Given the description of an element on the screen output the (x, y) to click on. 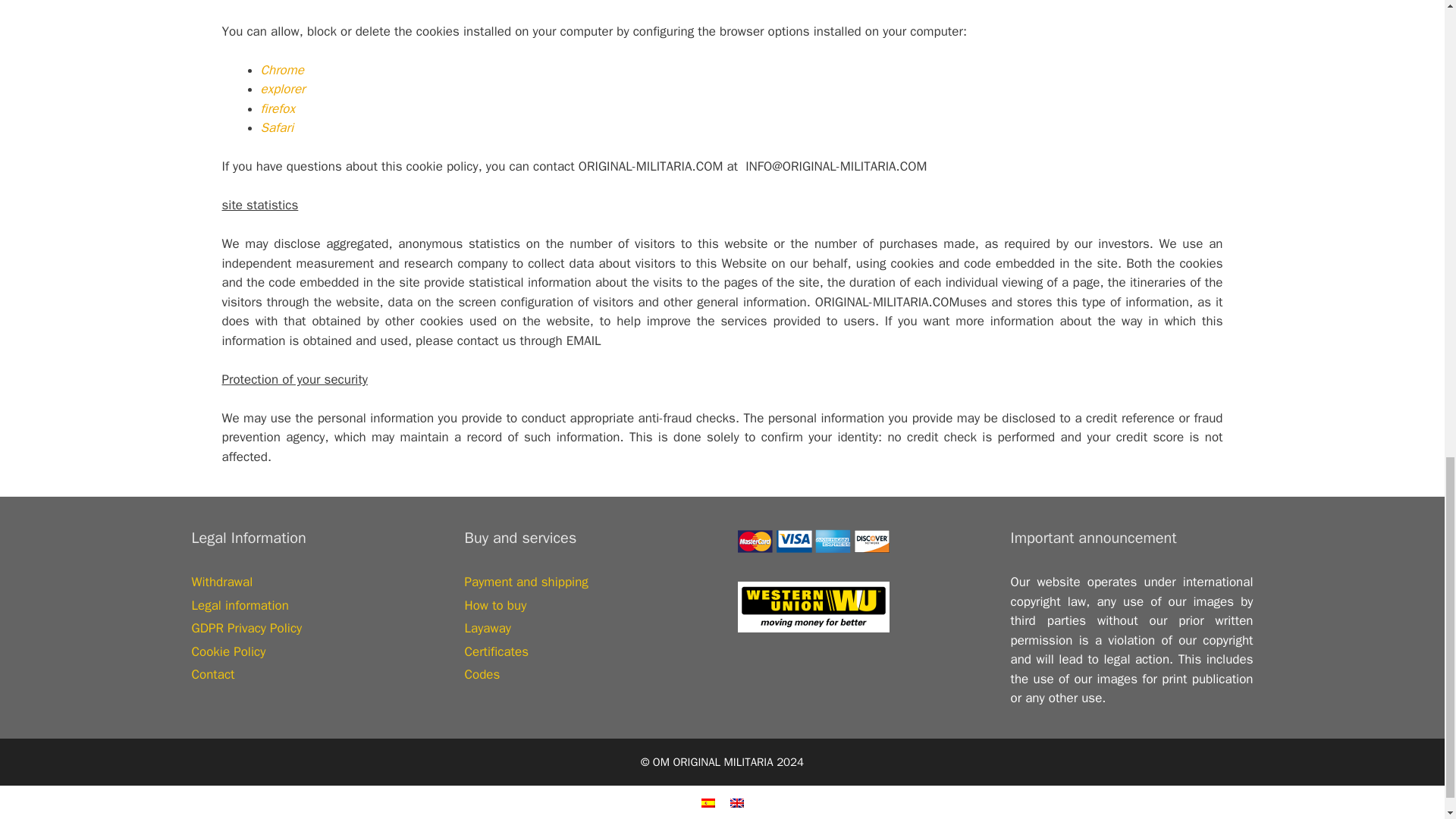
Withdrawal (220, 581)
Legal information (239, 605)
Cookie Policy (227, 651)
firefox (277, 108)
Safari (277, 127)
Chrome (282, 69)
Contact (212, 674)
GDPR Privacy Policy (245, 627)
explorer (282, 89)
